Given the description of an element on the screen output the (x, y) to click on. 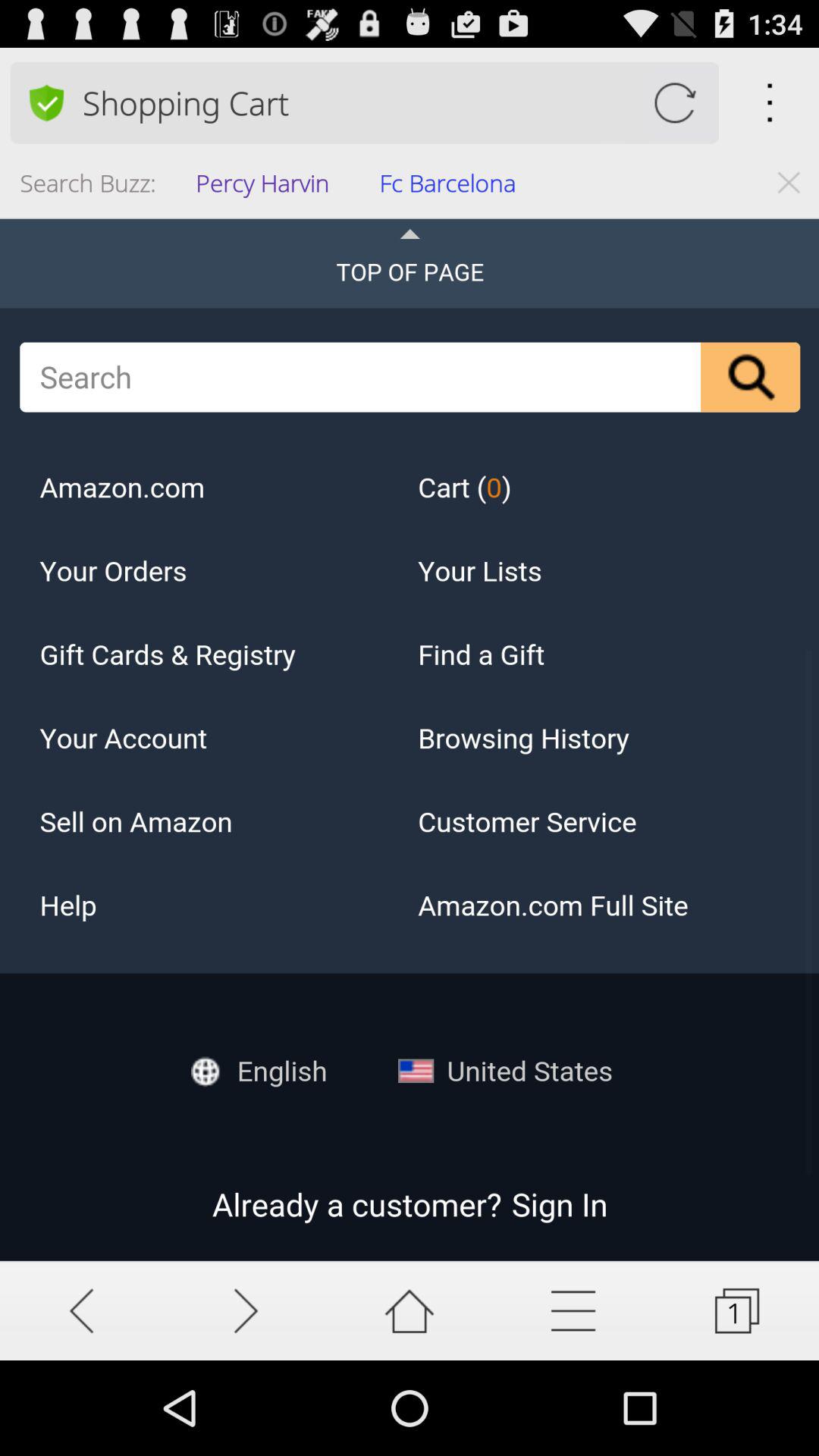
update shopping cart (674, 102)
